Given the description of an element on the screen output the (x, y) to click on. 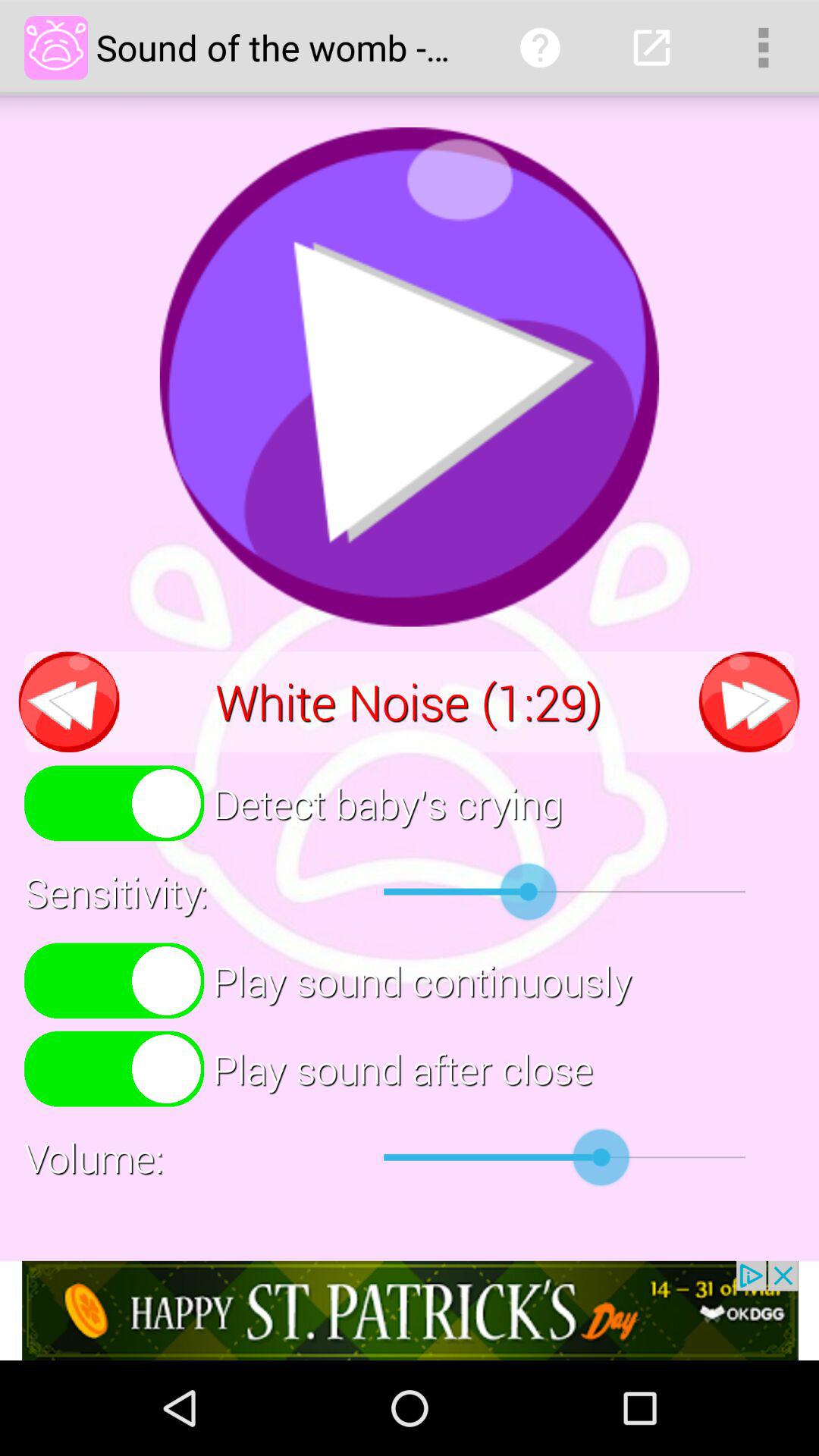
go to next sound (749, 701)
